Given the description of an element on the screen output the (x, y) to click on. 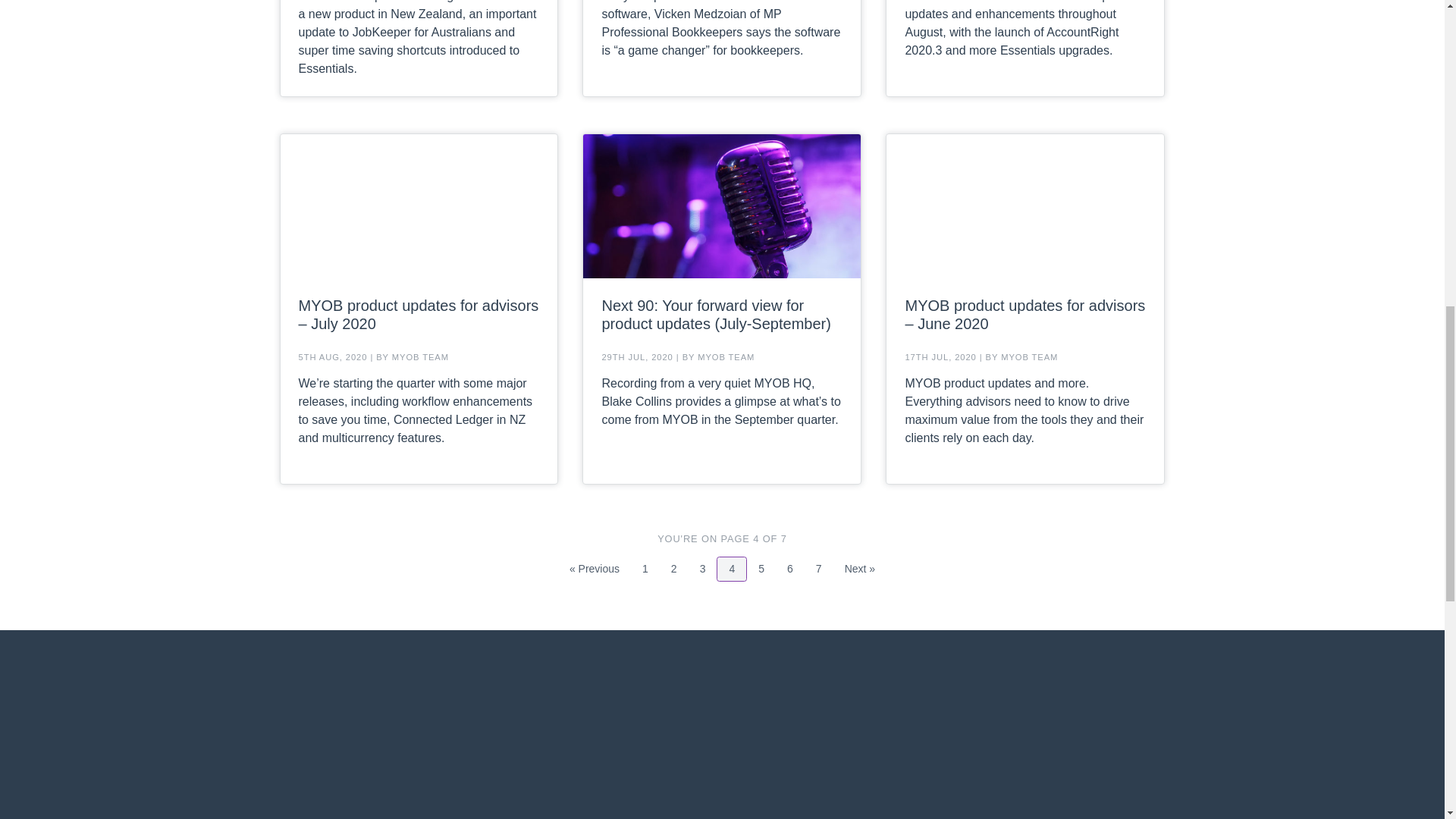
Form 0 (702, 568)
